Given the description of an element on the screen output the (x, y) to click on. 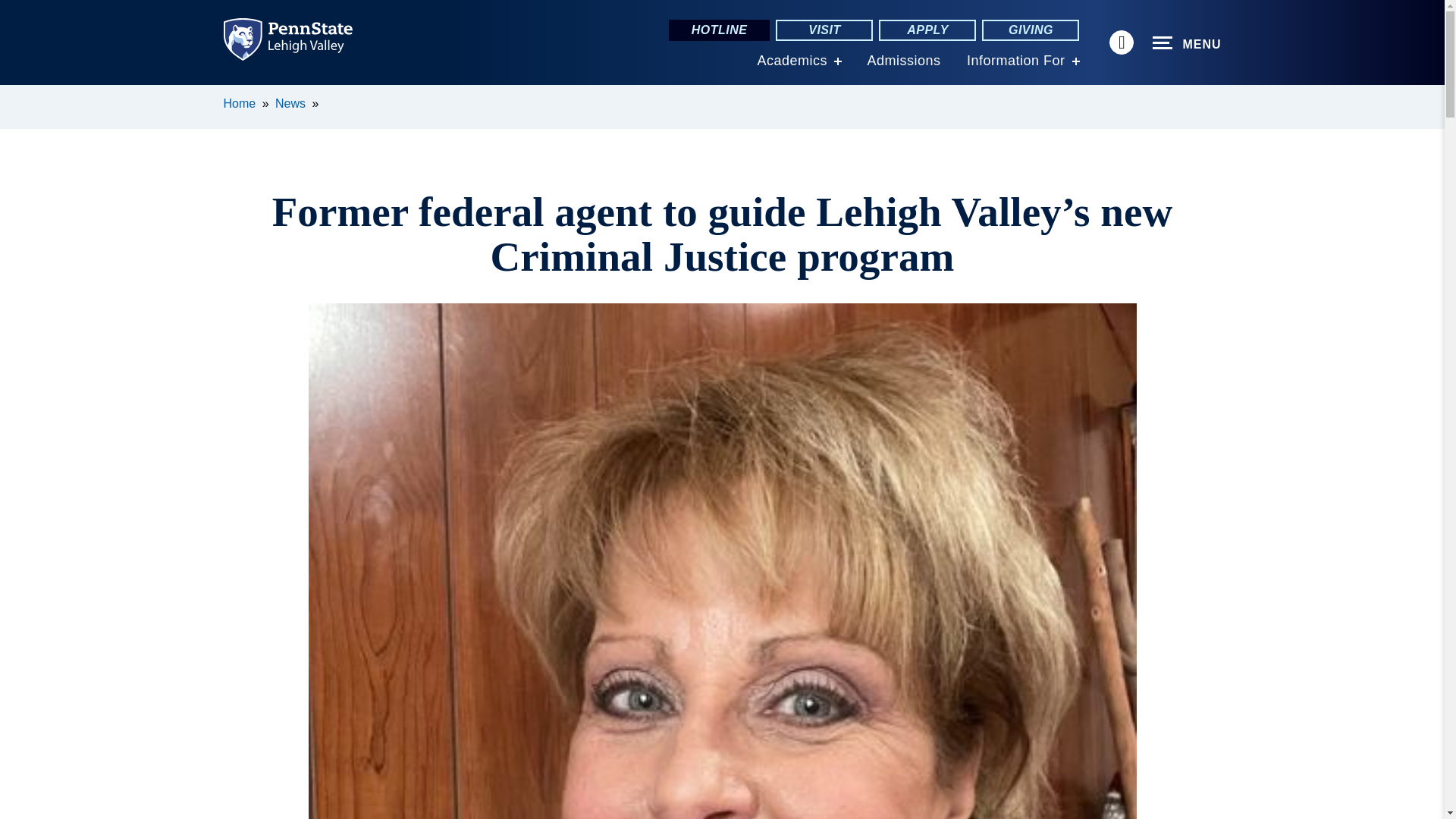
GIVING (1029, 29)
SKIP TO MAIN CONTENT (19, 95)
MENU (1187, 43)
HOTLINE (719, 29)
Admissions (903, 60)
Information For (1015, 60)
VISIT (824, 29)
APPLY (927, 29)
Academics (792, 60)
